Given the description of an element on the screen output the (x, y) to click on. 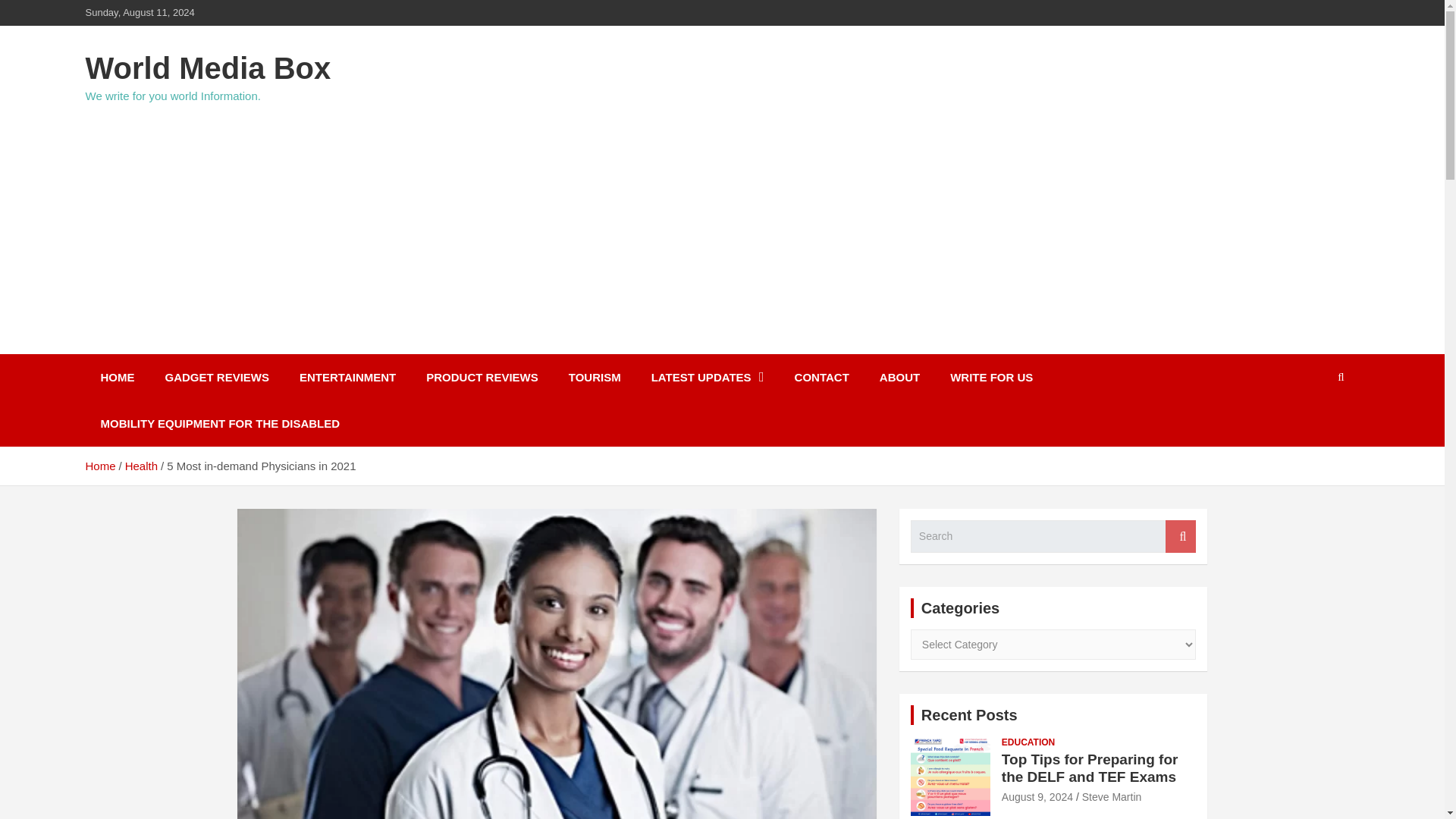
Home (99, 465)
ENTERTAINMENT (346, 376)
TOURISM (594, 376)
CONTACT (821, 376)
WRITE FOR US (991, 376)
HOME (116, 376)
Health (141, 465)
LATEST UPDATES (707, 376)
World Media Box (207, 68)
MOBILITY EQUIPMENT FOR THE DISABLED (219, 423)
